Given the description of an element on the screen output the (x, y) to click on. 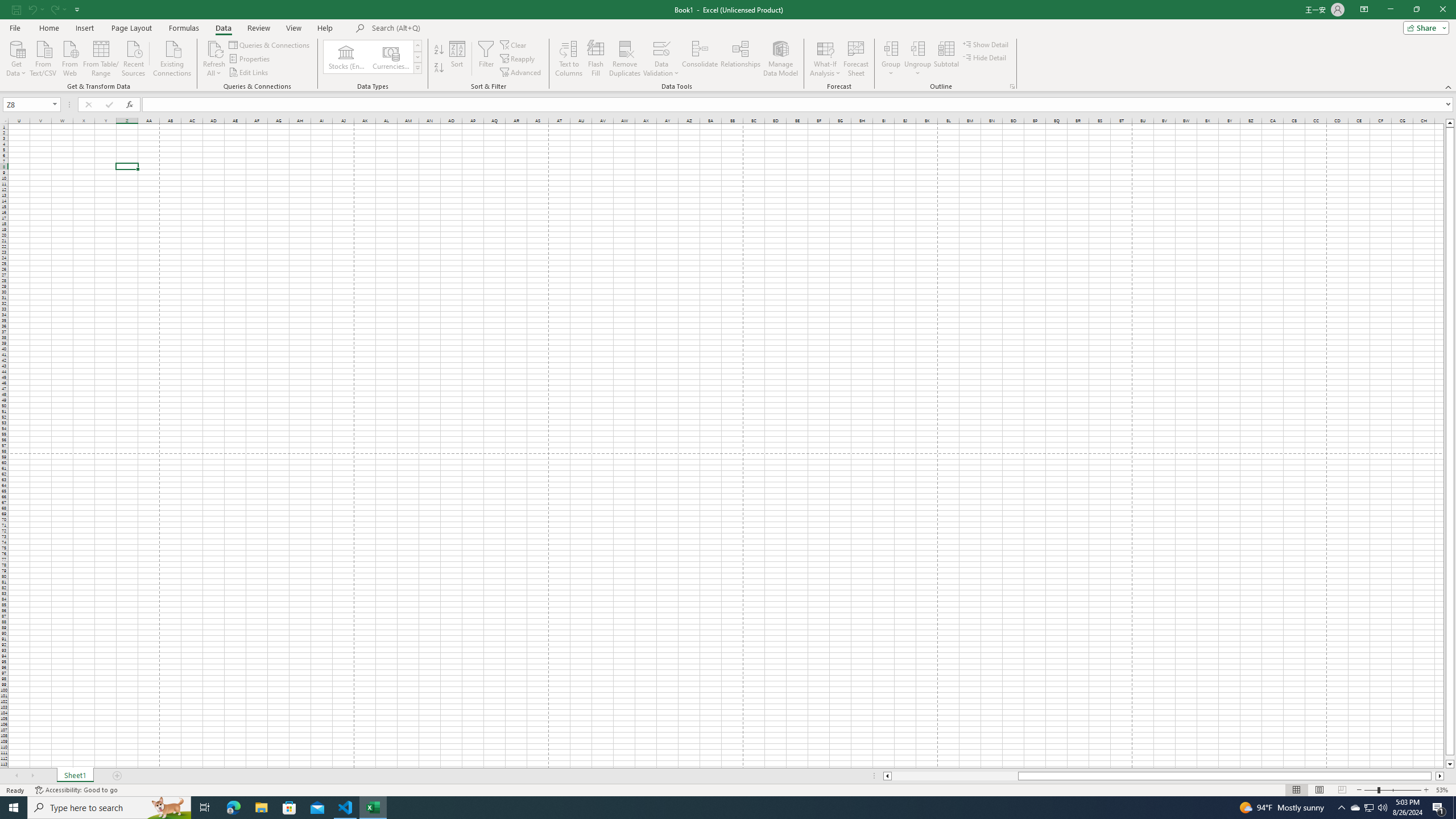
Sort Z to A (438, 67)
Hide Detail (985, 56)
Recent Sources (133, 57)
Stocks (English) (346, 56)
Flash Fill (595, 58)
Relationships (740, 58)
